Given the description of an element on the screen output the (x, y) to click on. 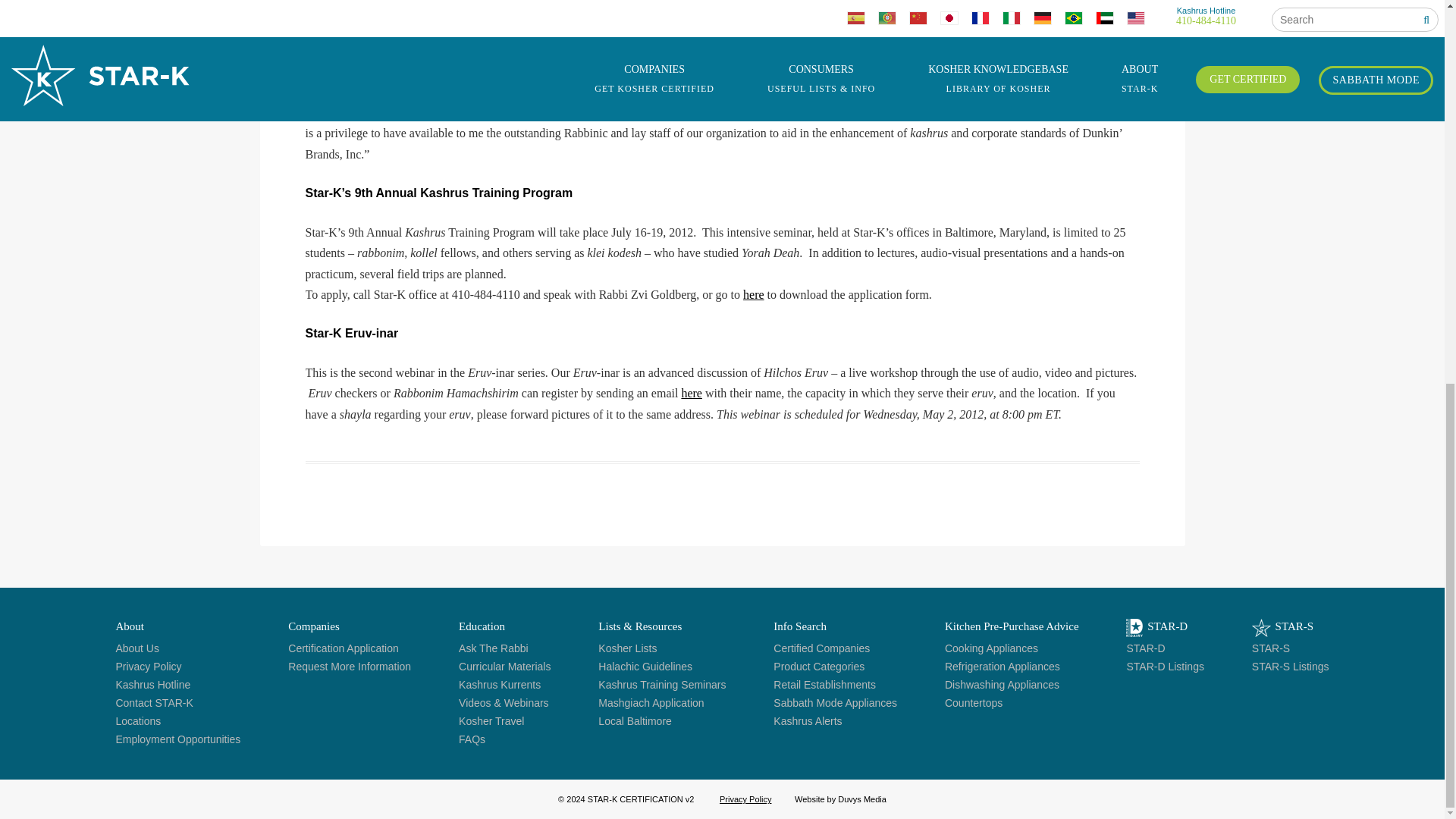
Curricular Materials (504, 666)
Certification Application (343, 648)
Contact STAR-K (153, 702)
Education (481, 625)
Employment Opportunities (177, 739)
here (753, 294)
About Us (136, 648)
Locations (137, 720)
Request More Information (349, 666)
Kashrus Kurrents (499, 684)
